Given the description of an element on the screen output the (x, y) to click on. 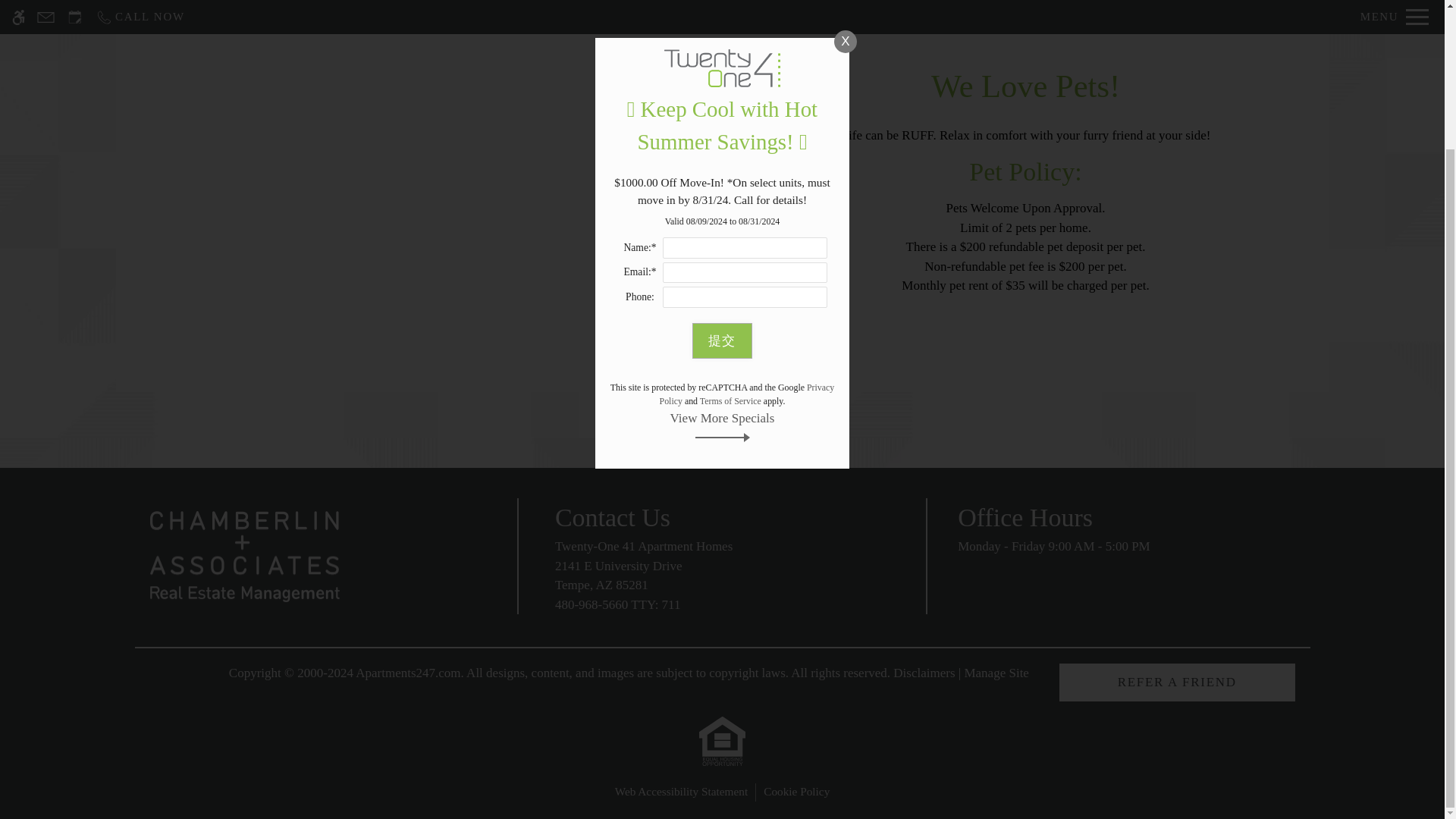
480-968-5660 TTY: 711 (617, 604)
Disclaimers (924, 672)
REFER A FRIEND (1177, 682)
Edit Webiste Content (721, 583)
Apartments247.com (995, 672)
